Given the description of an element on the screen output the (x, y) to click on. 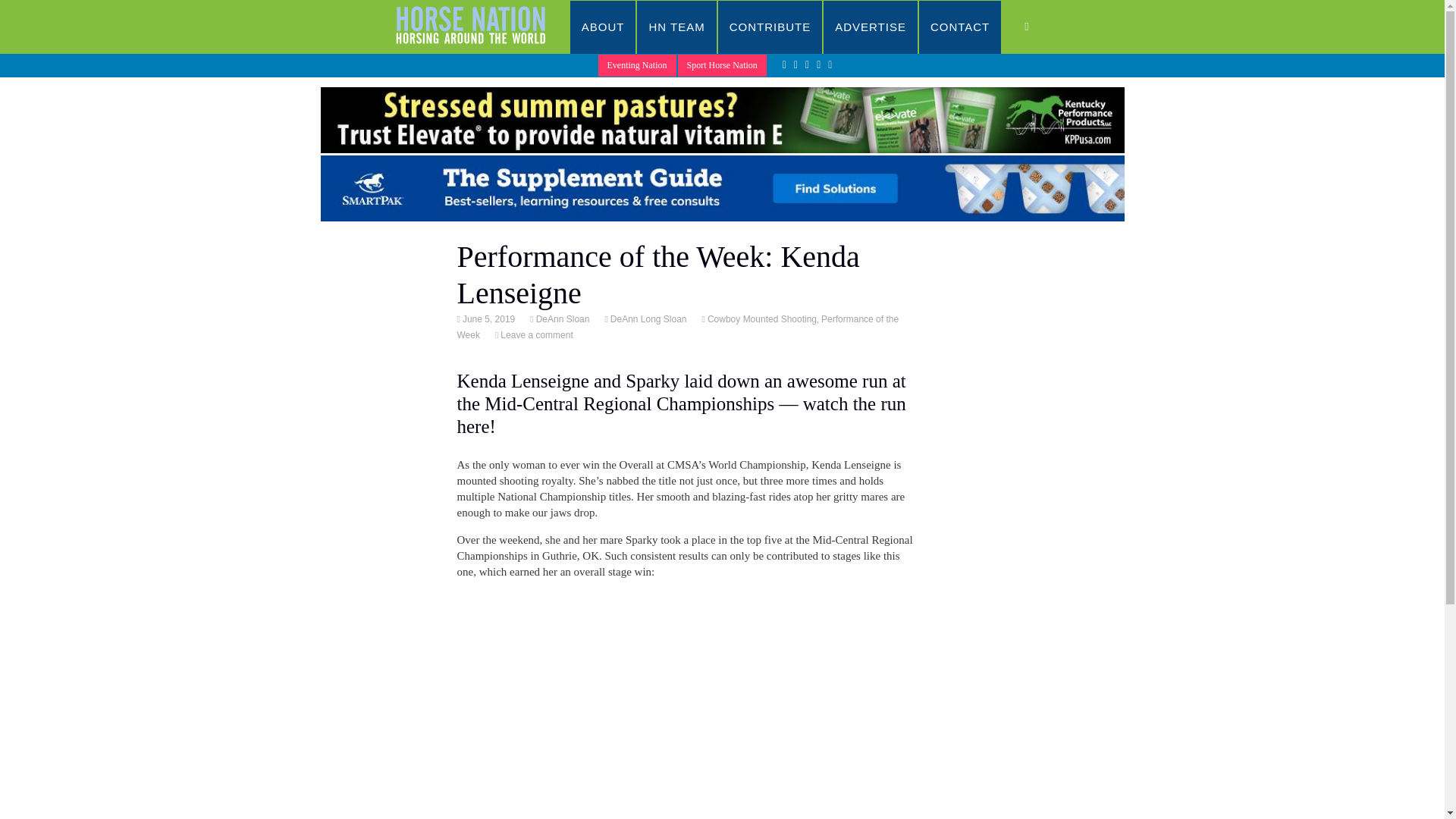
Leave a comment (534, 335)
June 5, 2019 (487, 318)
Permalink to Performance of the Week: Kenda Lenseigne (487, 318)
Cowboy Mounted Shooting (760, 318)
SEARCH (1041, 27)
HN TEAM (676, 27)
View all posts by DeAnn Sloan (561, 318)
CONTACT (959, 27)
Sport Horse Nation (722, 65)
ADVERTISE (870, 27)
